Given the description of an element on the screen output the (x, y) to click on. 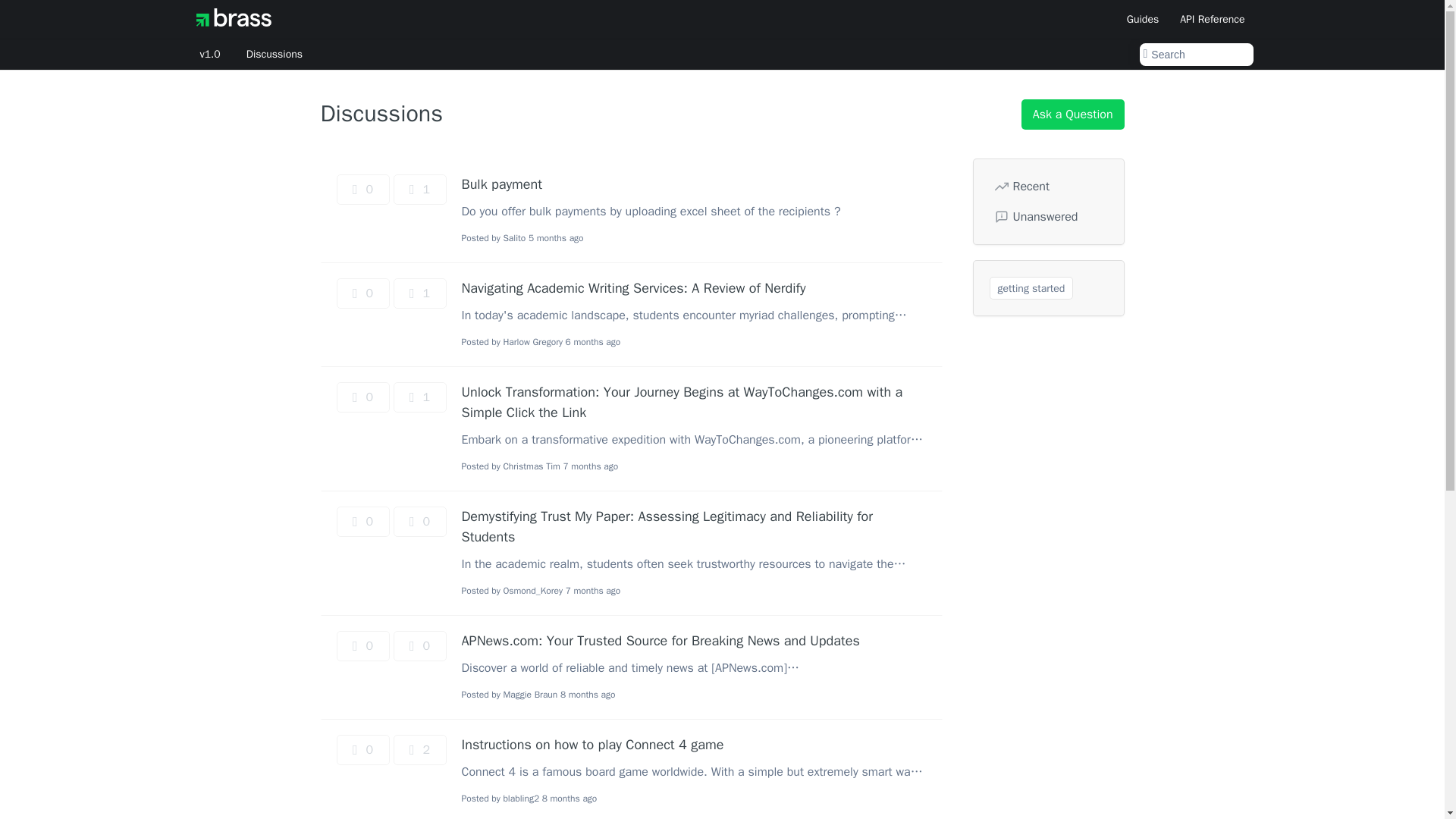
0 (363, 521)
API Reference (1212, 18)
0 (419, 521)
0 (363, 749)
Ask a Question (1073, 114)
0 (363, 397)
0 (363, 189)
1 (419, 189)
Guides (1142, 18)
0 (363, 645)
